Given the description of an element on the screen output the (x, y) to click on. 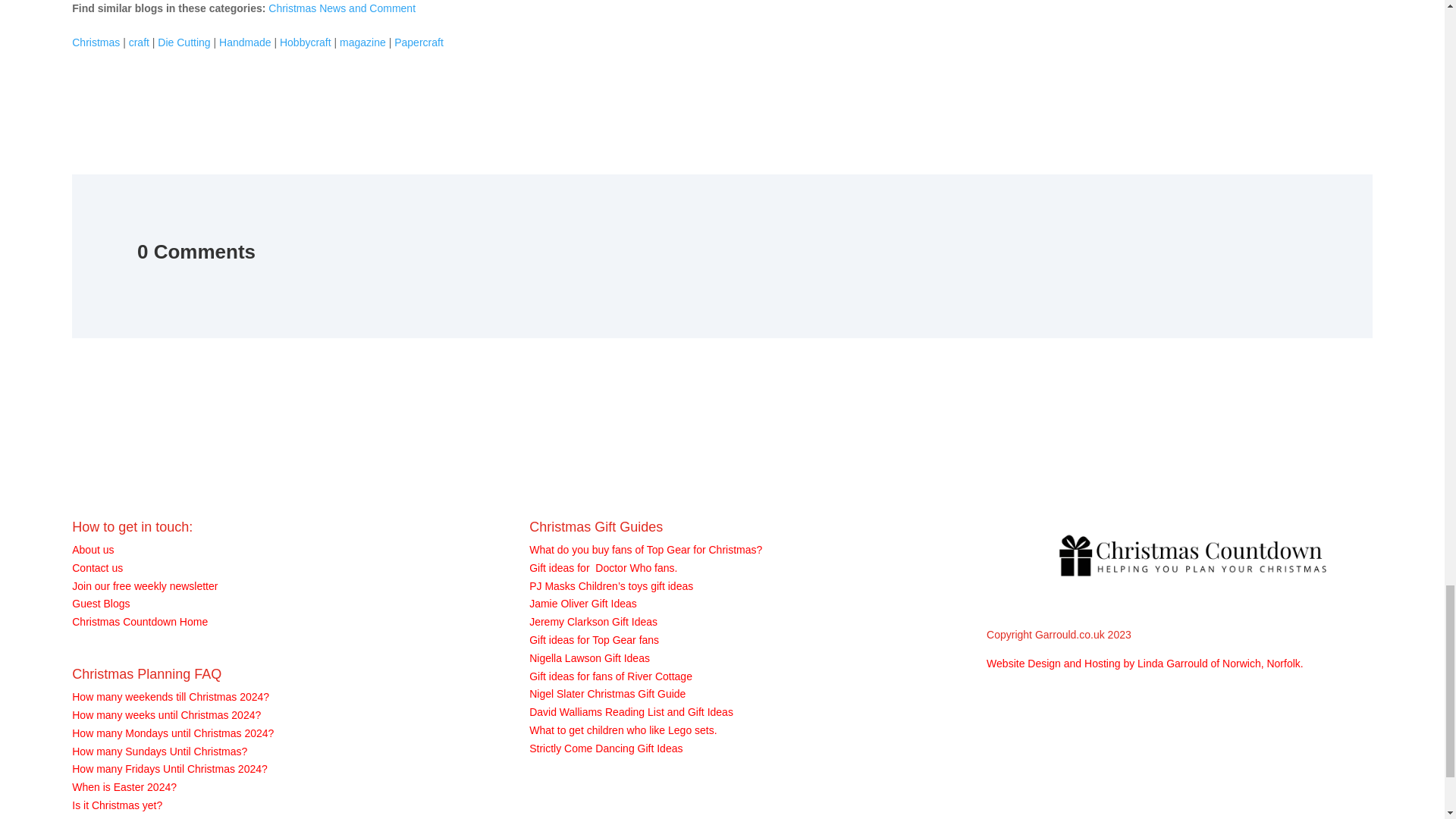
About us (92, 549)
Christmas (95, 42)
How many weekends till Christmas 2024? (170, 696)
Christmas Countdown Home (139, 621)
Handmade (244, 42)
Contact Us (96, 567)
Contact us (96, 567)
magazine (362, 42)
Hobbycraft (305, 42)
Join our free weekly newsletter (143, 585)
Die Cutting (183, 42)
Guest Blogs (100, 603)
Christmas News and Comment (340, 8)
craft (139, 42)
